Given the description of an element on the screen output the (x, y) to click on. 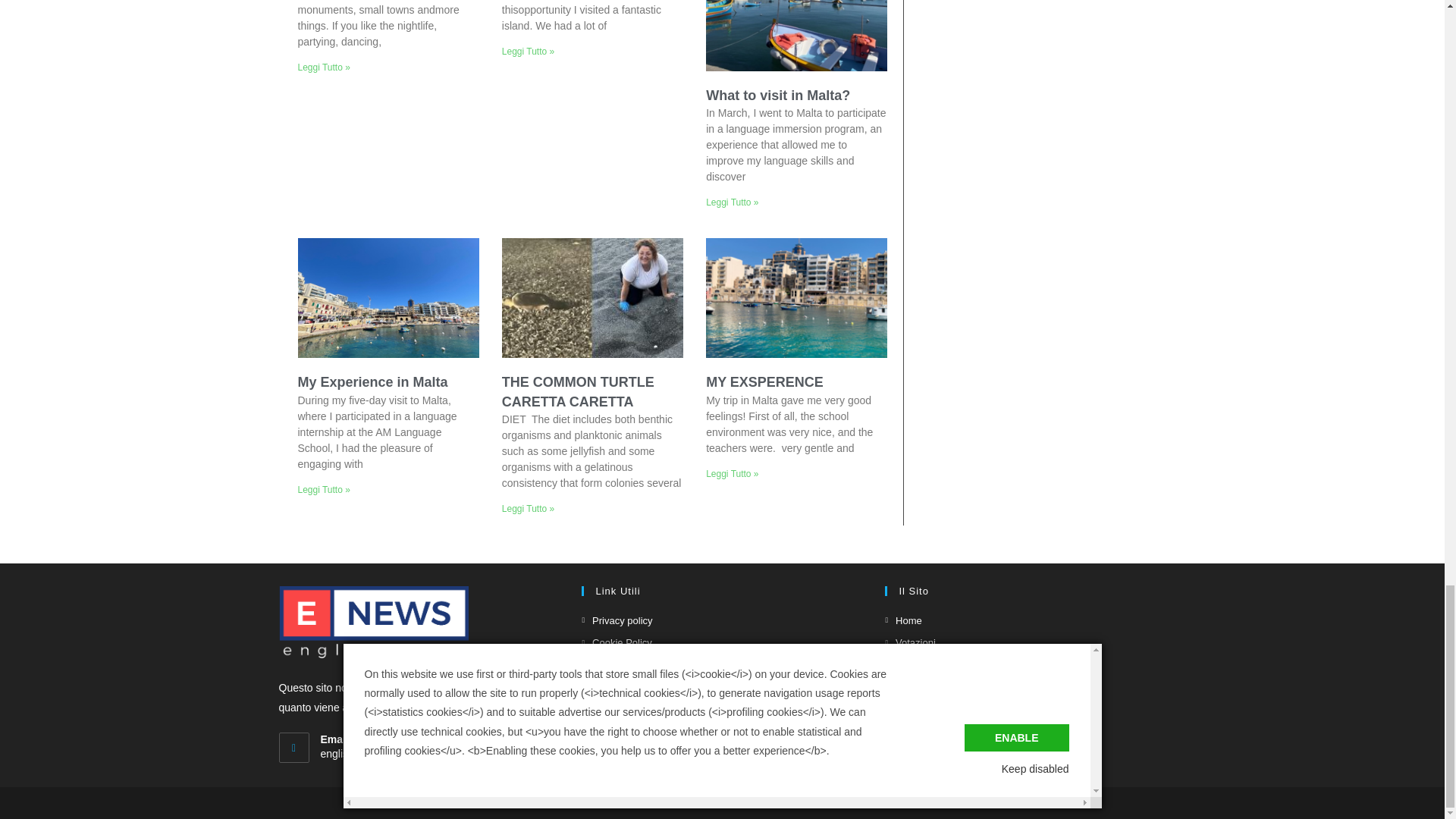
MY EXSPERENCE (765, 381)
My Experience in Malta (371, 381)
THE COMMON TURTLE CARETTA CARETTA (577, 391)
What to visit in Malta? (778, 95)
